Given the description of an element on the screen output the (x, y) to click on. 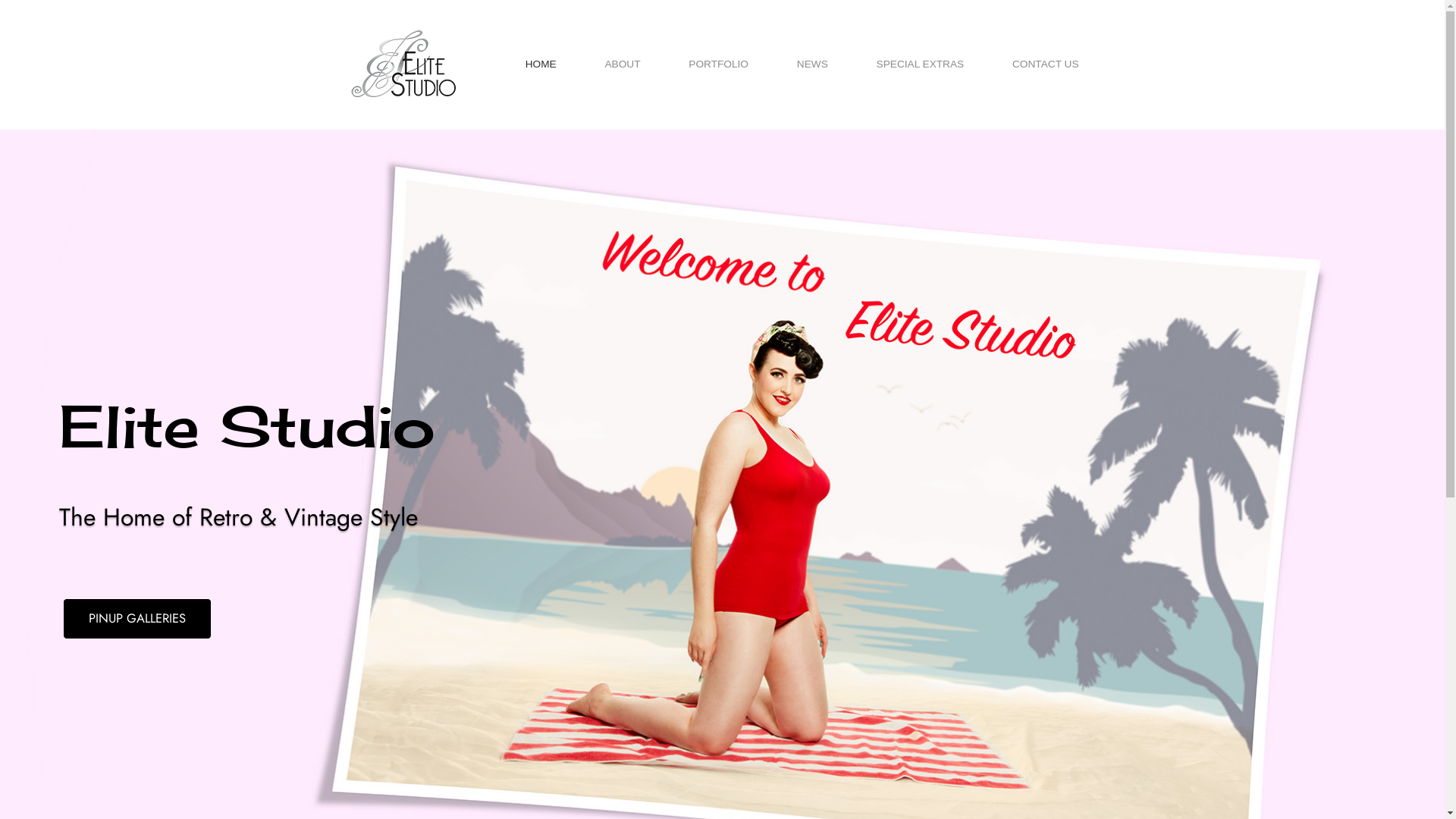
HOME Element type: text (540, 64)
SPECIAL EXTRAS Element type: text (920, 64)
CONTACT US Element type: text (1045, 64)
Home Element type: text (402, 62)
NEWS Element type: text (812, 64)
PORTFOLIO Element type: text (718, 64)
ABOUT Element type: text (621, 64)
PINUP GALLERIES Element type: text (136, 618)
